Given the description of an element on the screen output the (x, y) to click on. 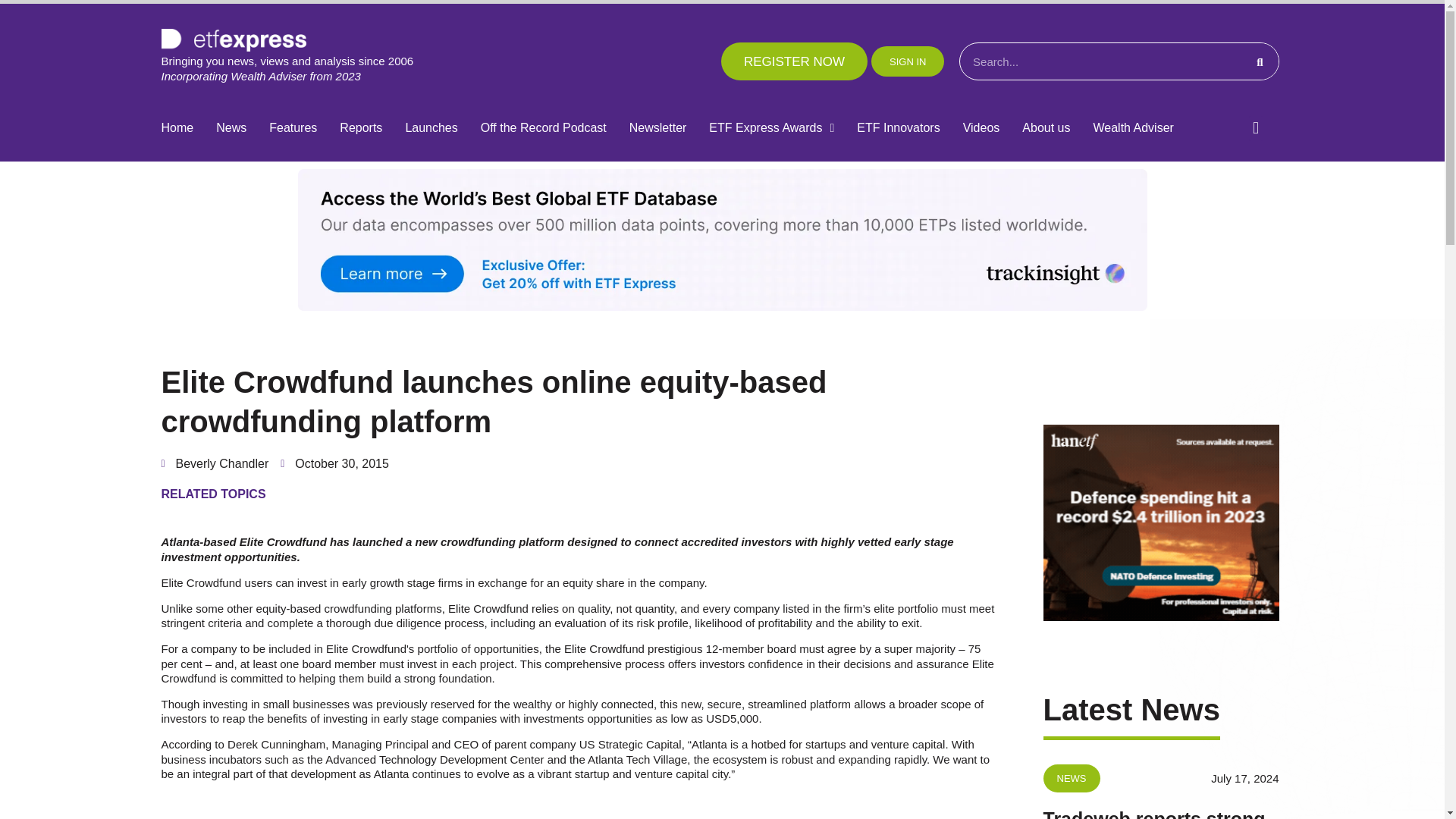
Home (176, 128)
News (230, 128)
Features (293, 128)
REGISTER NOW (793, 61)
SIGN IN (906, 60)
